Given the description of an element on the screen output the (x, y) to click on. 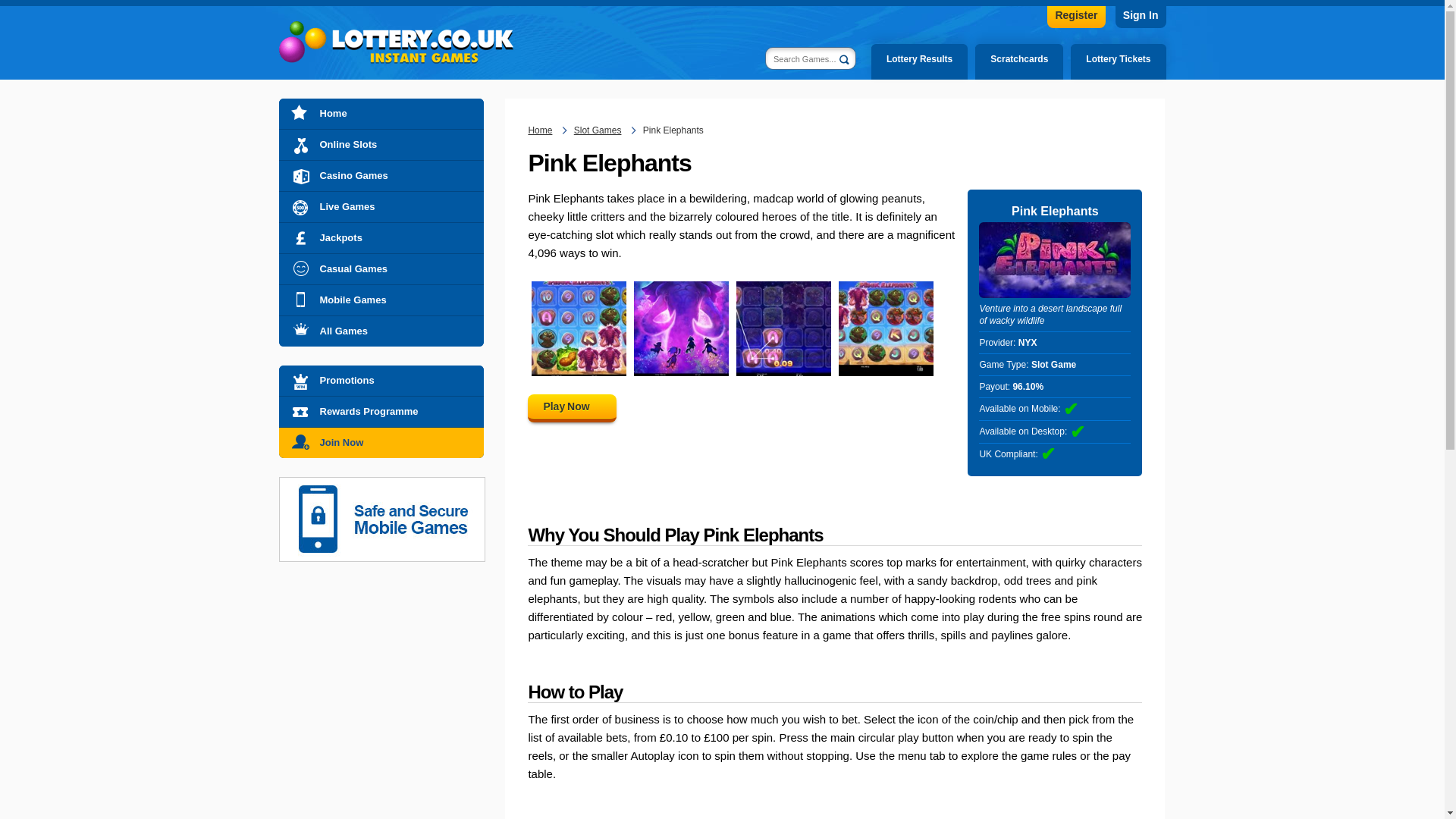
Online Slots at Lottery.co.uk (381, 144)
Join Now (381, 442)
Casual Games (381, 268)
Search (847, 61)
Casual Games at Lottery.co.uk (381, 268)
Slot Games (597, 130)
Casino Games (381, 175)
Casino Games at Lottery.co.uk (381, 175)
Lottery (396, 42)
Take a look at the latest promotions (381, 380)
Live Games (381, 206)
Lottery.co.uk Instant Games (539, 130)
Mobile Games (381, 300)
Promotions (381, 380)
Rewards Programme (381, 411)
